Given the description of an element on the screen output the (x, y) to click on. 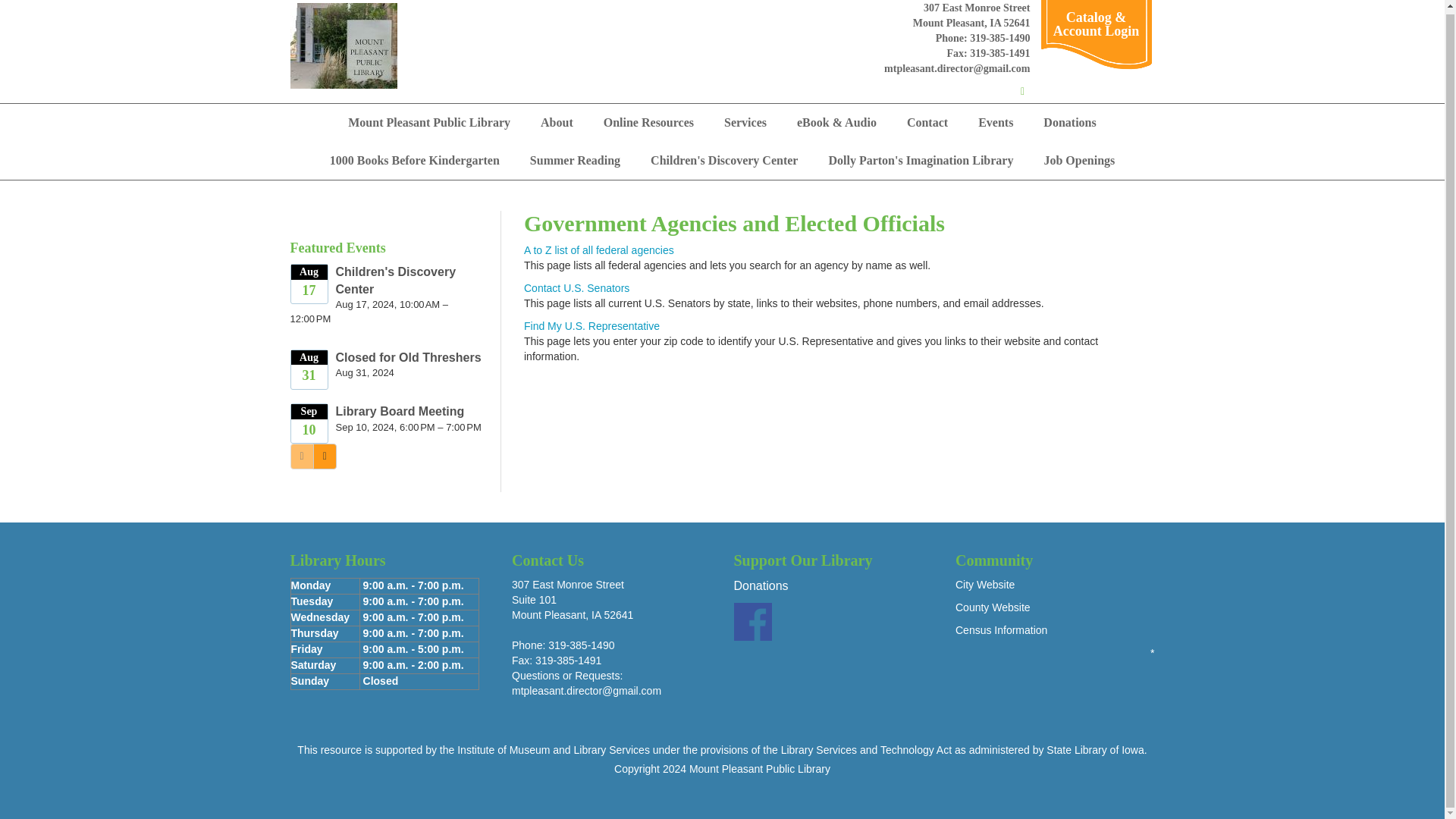
About (556, 122)
Job Openings (1078, 160)
Contact (926, 122)
Summer Reading (574, 160)
Events (994, 122)
Online Resources (648, 122)
Dolly Parton's Imagination Library (919, 160)
1000 Books Before Kindergarten (414, 160)
Mount Pleasant Public Library (429, 122)
Donations (1068, 122)
